Given the description of an element on the screen output the (x, y) to click on. 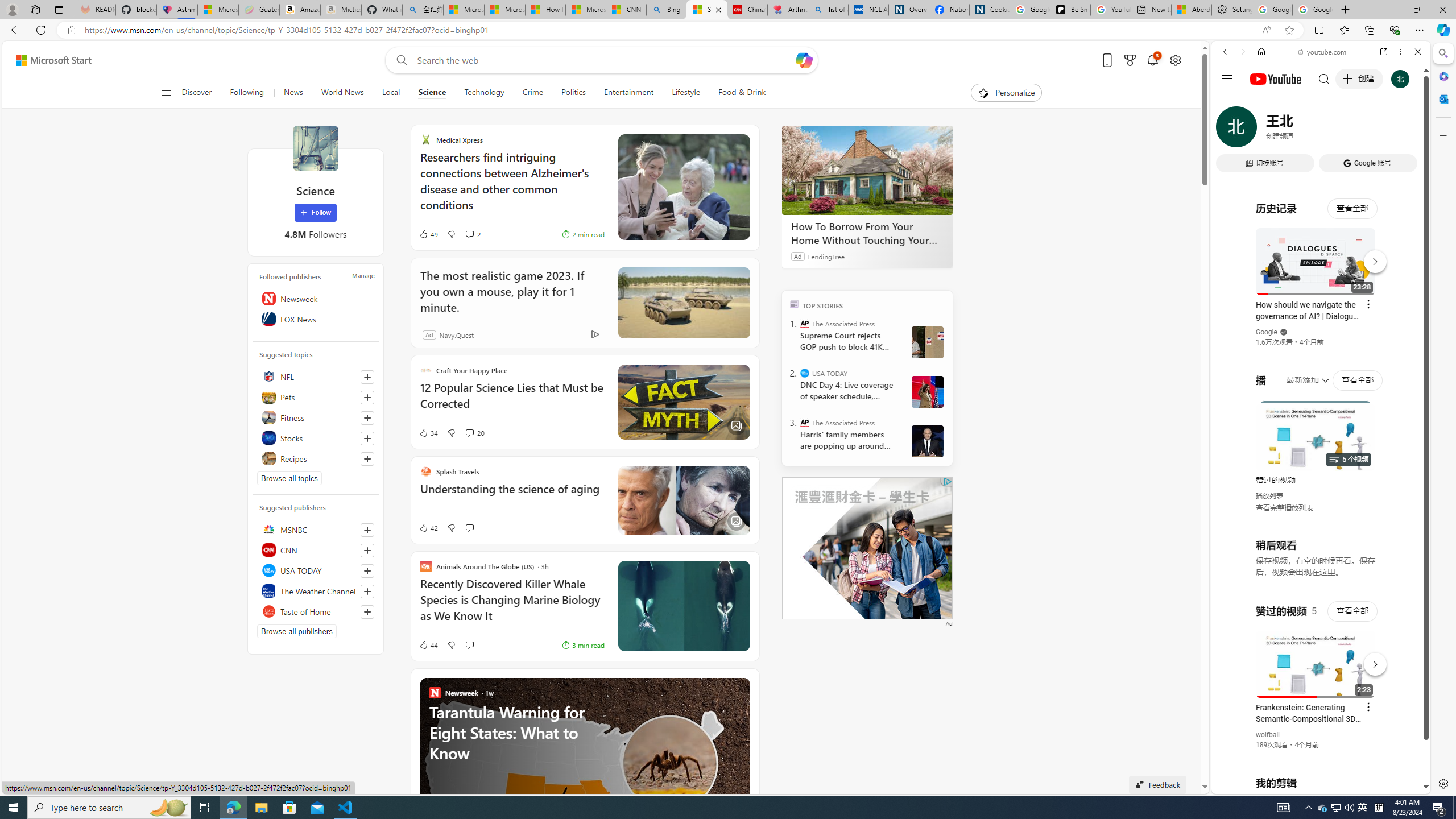
Minimize (1390, 9)
#you (1315, 659)
App bar (728, 29)
VIDEOS (1300, 130)
Splash TravelsUnderstanding the science of aging42 (585, 500)
Be Smart | creating Science videos | Patreon (1069, 9)
Skip to content (49, 59)
YouTube (1315, 655)
Local (390, 92)
News (292, 92)
44 Like (427, 645)
Class: dict_pnIcon rms_img (1312, 784)
Politics (573, 92)
